Given the description of an element on the screen output the (x, y) to click on. 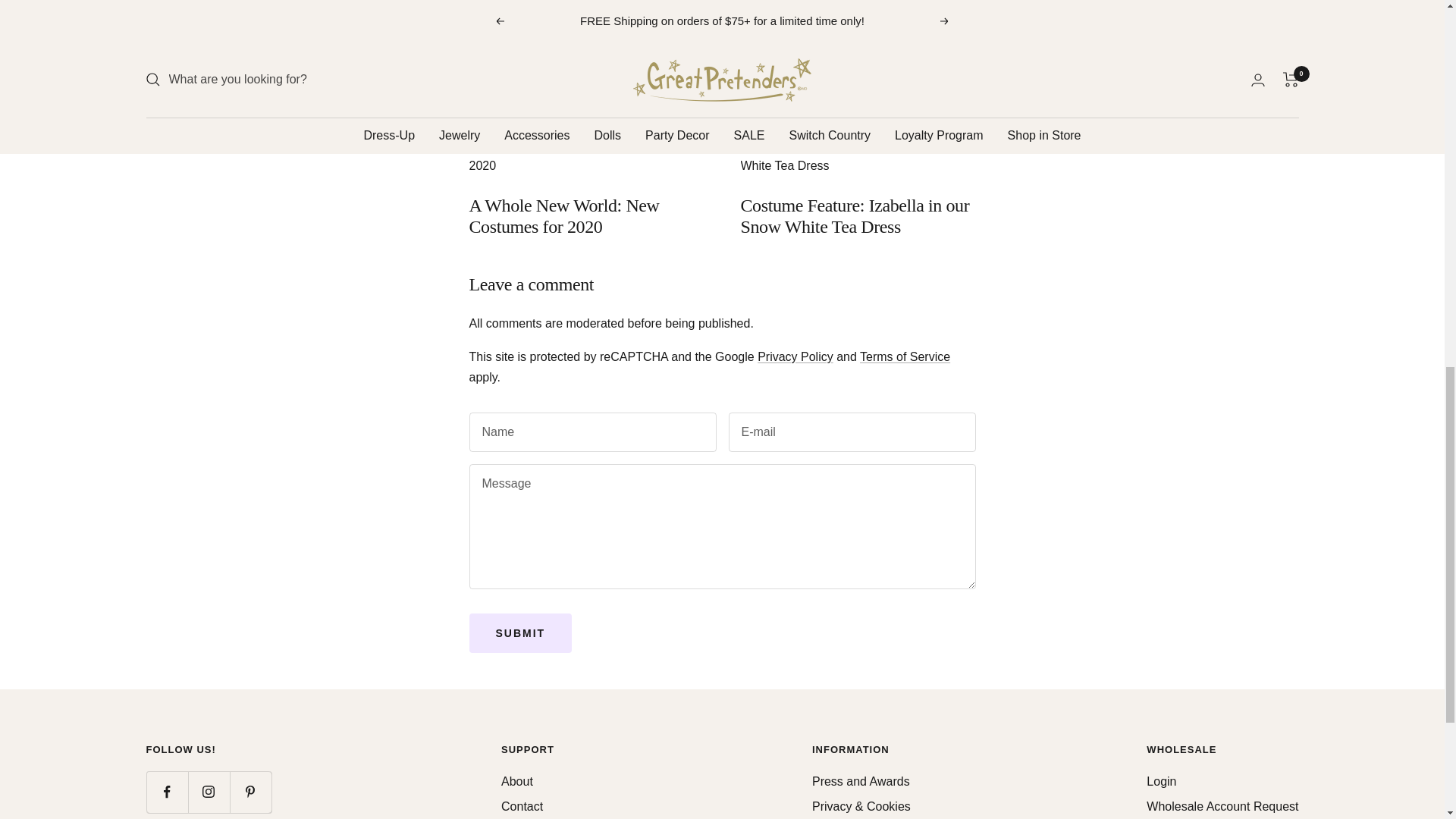
Costume Feature: Izabella in our Snow White Tea Dress (854, 215)
A Whole New World: New Costumes for 2020 (563, 215)
